Given the description of an element on the screen output the (x, y) to click on. 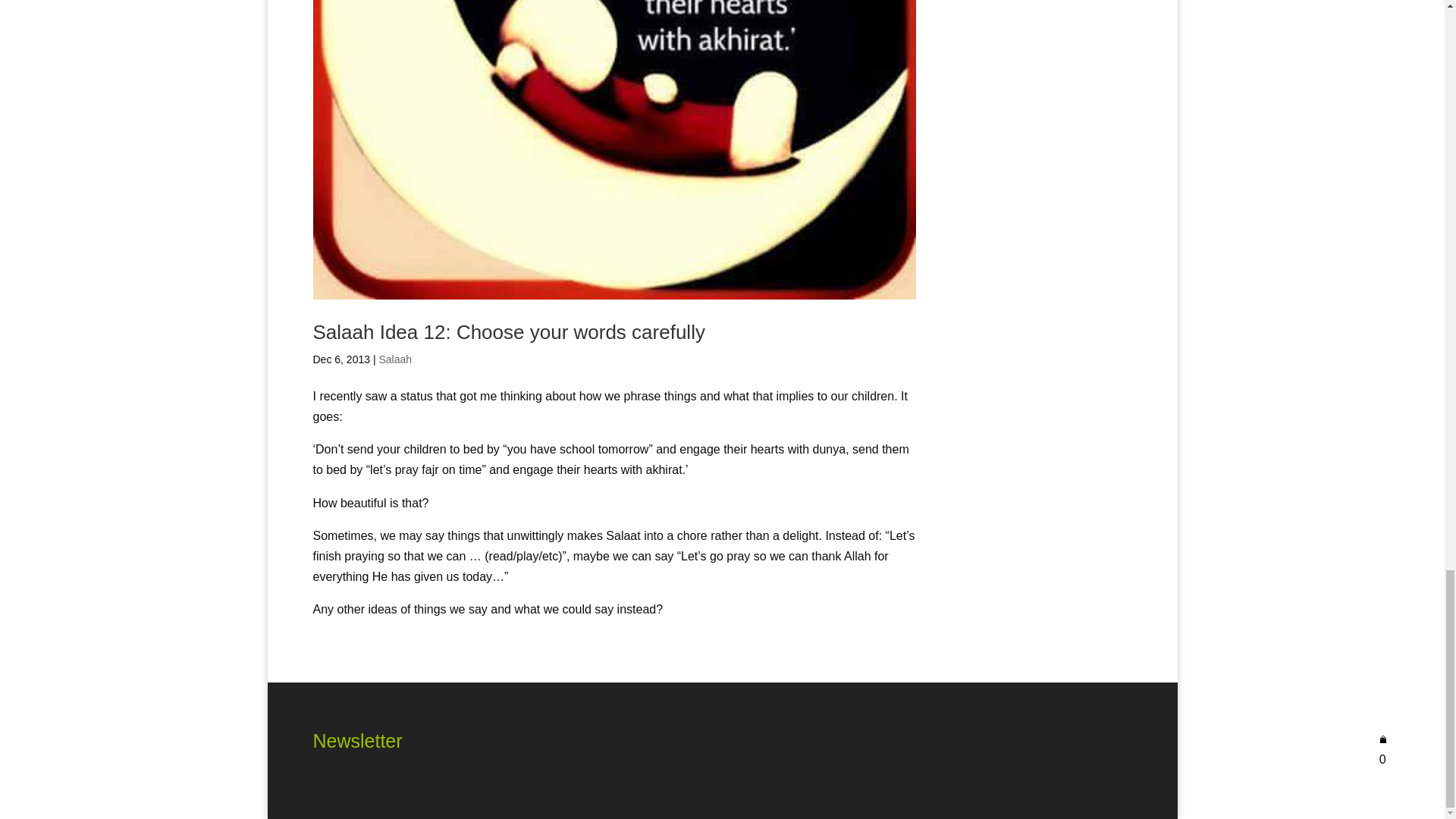
Salaah Idea 12: Choose your words carefully (508, 332)
Salaah (395, 358)
